Given the description of an element on the screen output the (x, y) to click on. 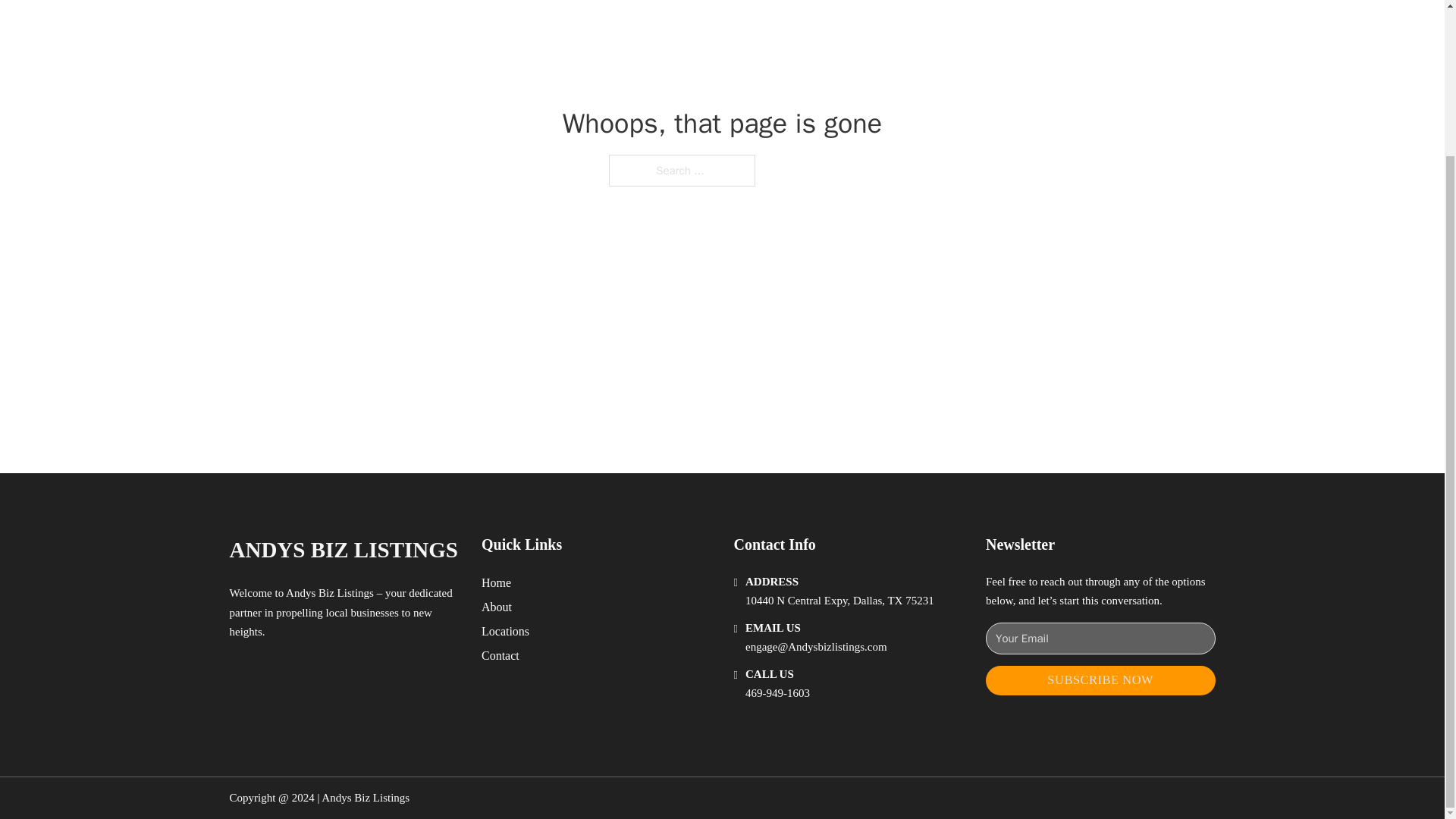
Contact (500, 655)
Home (496, 582)
About (496, 607)
ANDYS BIZ LISTINGS (342, 549)
Locations (505, 630)
469-949-1603 (777, 693)
SUBSCRIBE NOW (1100, 680)
